Given the description of an element on the screen output the (x, y) to click on. 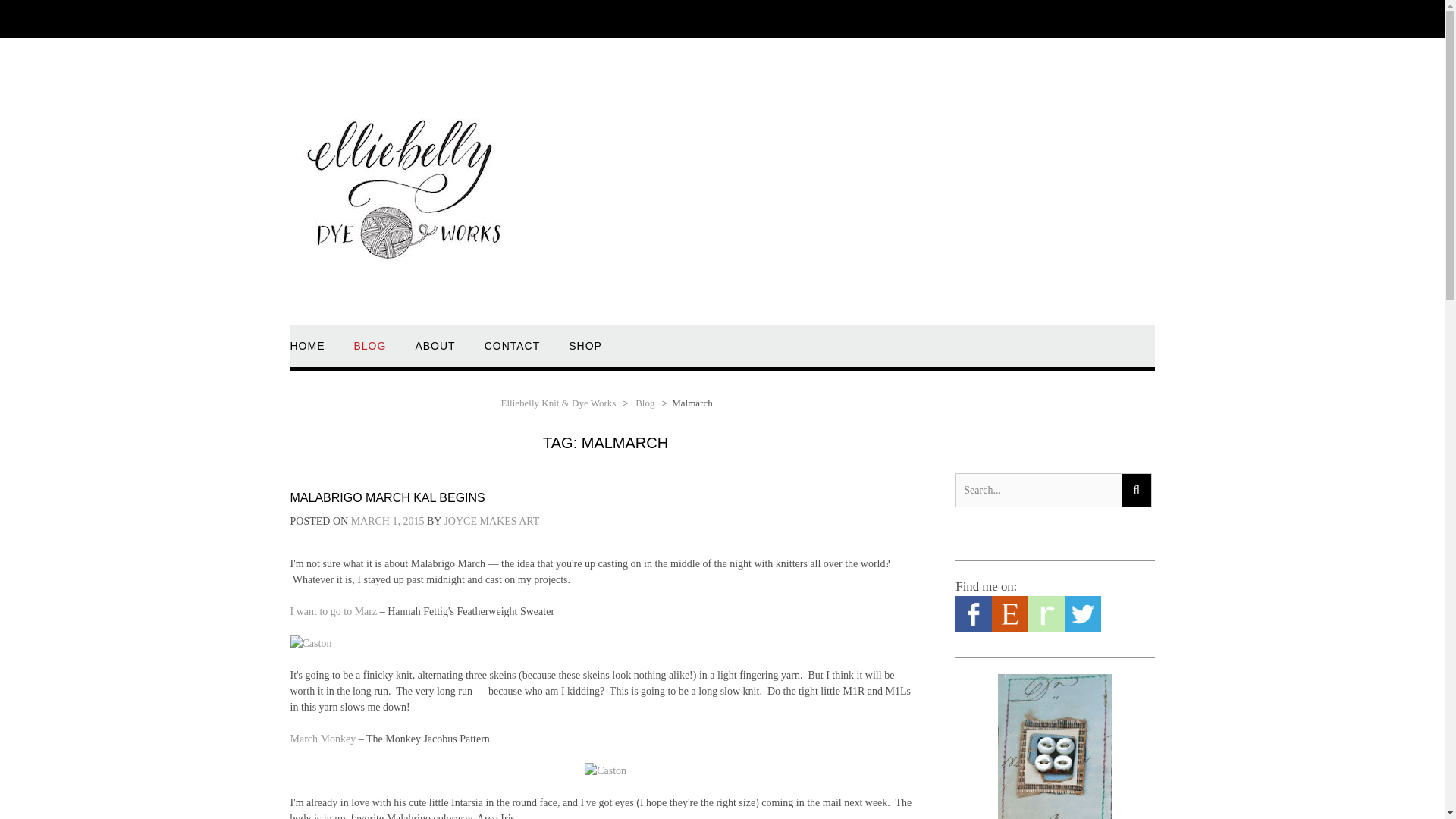
Caston (605, 770)
Ravelry (1045, 628)
Facebook (973, 628)
SHOP (585, 352)
JOYCE MAKES ART (491, 521)
ABOUT (434, 352)
MALABRIGO MARCH KAL BEGINS (386, 497)
March Monkey (322, 738)
MARCH 1, 2015 (387, 521)
CONTACT (512, 352)
